Given the description of an element on the screen output the (x, y) to click on. 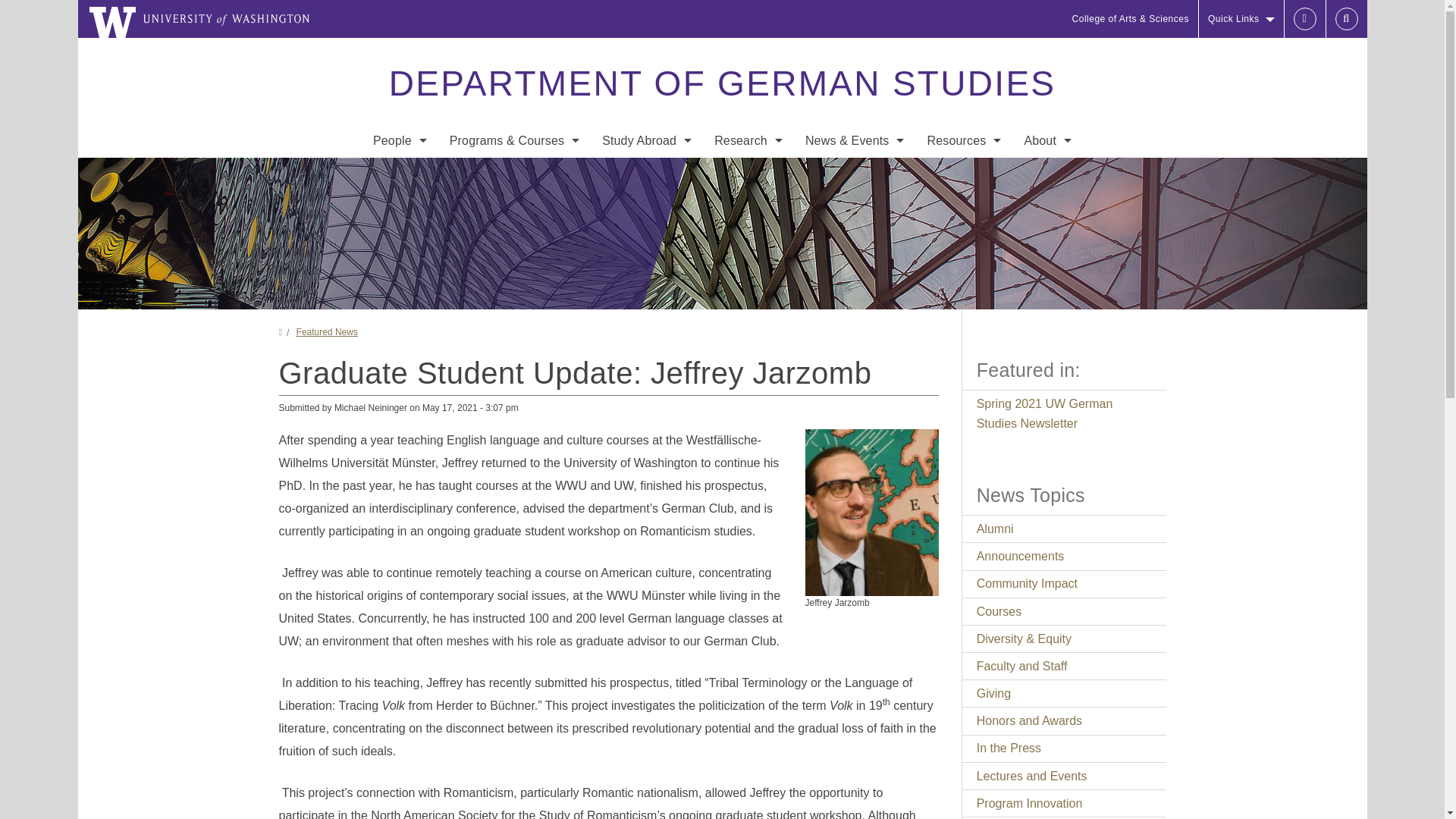
Undergraduate (514, 173)
Faculty, staff, and students in our department. (399, 294)
Quick Links (1241, 18)
DEPARTMENT OF GERMAN STUDIES (721, 83)
Visiting Scholars (399, 294)
Staff (399, 203)
UWNetID Login (1304, 18)
Max Kade Professor (399, 263)
Faculty (399, 173)
